Given the description of an element on the screen output the (x, y) to click on. 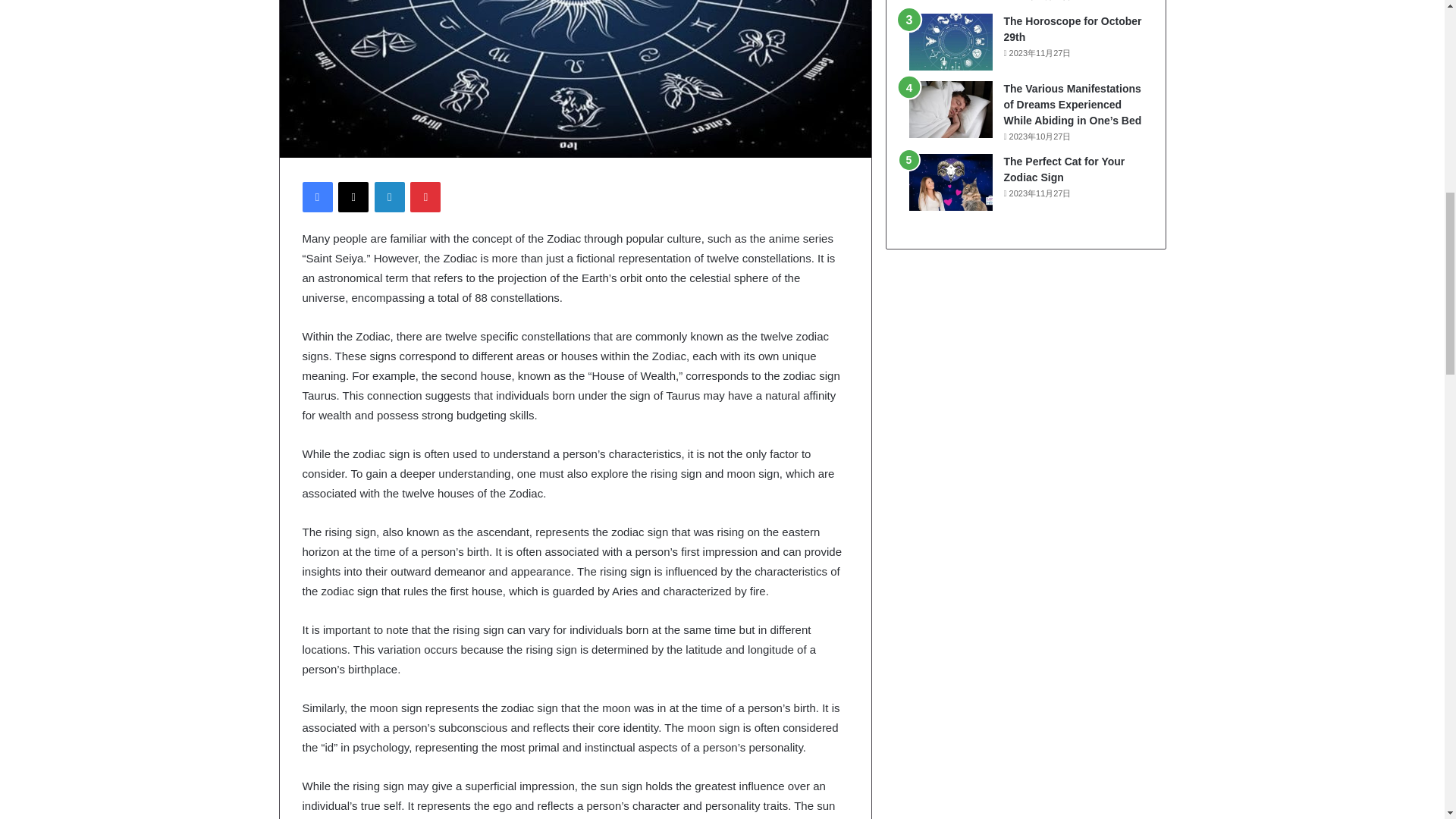
Facebook (316, 196)
Facebook (316, 196)
Pinterest (425, 196)
Pinterest (425, 196)
X (352, 196)
X (352, 196)
LinkedIn (389, 196)
LinkedIn (389, 196)
